Given the description of an element on the screen output the (x, y) to click on. 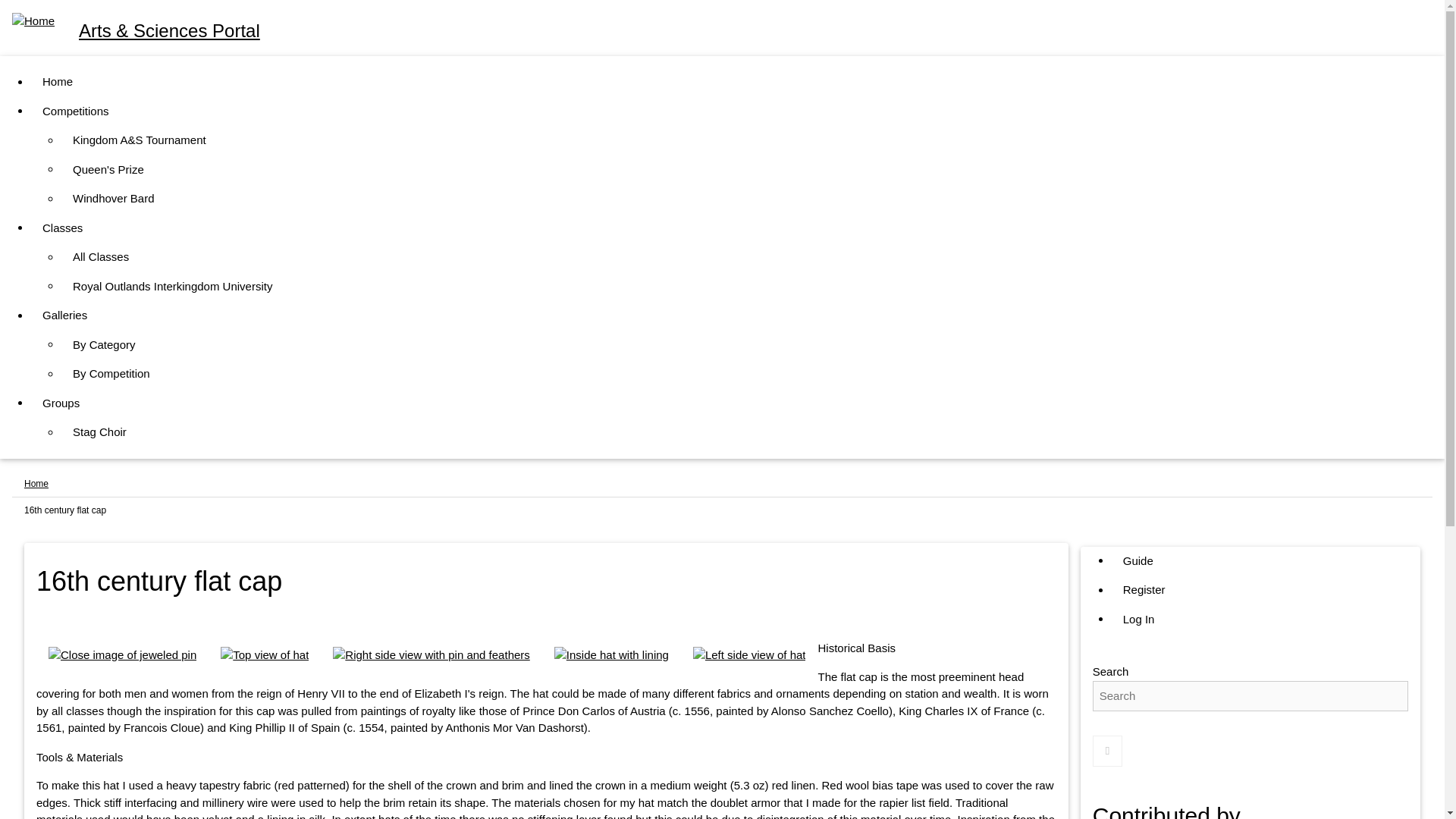
Queen's Prize (108, 170)
Log In (1138, 619)
Home (169, 30)
Royal Outlands Interkingdom University (172, 286)
Groups (60, 403)
Classes (62, 228)
Home (57, 82)
Galleries (64, 315)
All Classes (101, 256)
By Category (104, 345)
By Competition (111, 374)
Home (36, 483)
Stag Choir (99, 432)
Register (1143, 590)
